Given the description of an element on the screen output the (x, y) to click on. 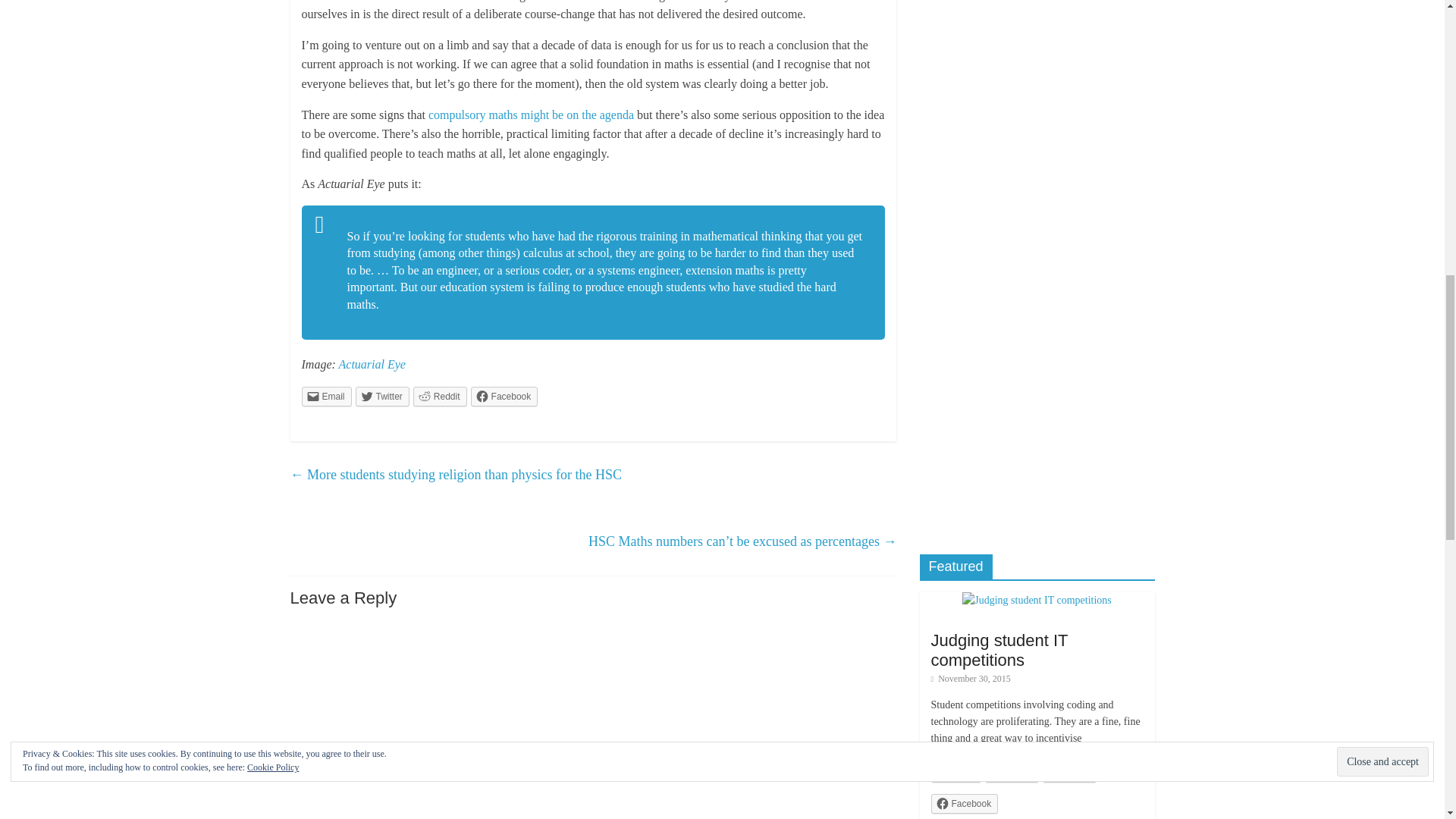
Email (956, 772)
Click to email this to a friend (326, 396)
Click to share on Facebook (504, 396)
Twitter (1012, 772)
Click to share on Twitter (382, 396)
Click to share on Reddit (440, 396)
Actuarial Eye (372, 364)
Tax paid (1032, 125)
compulsory maths might be on the agenda (530, 114)
Reddit (440, 396)
